Given the description of an element on the screen output the (x, y) to click on. 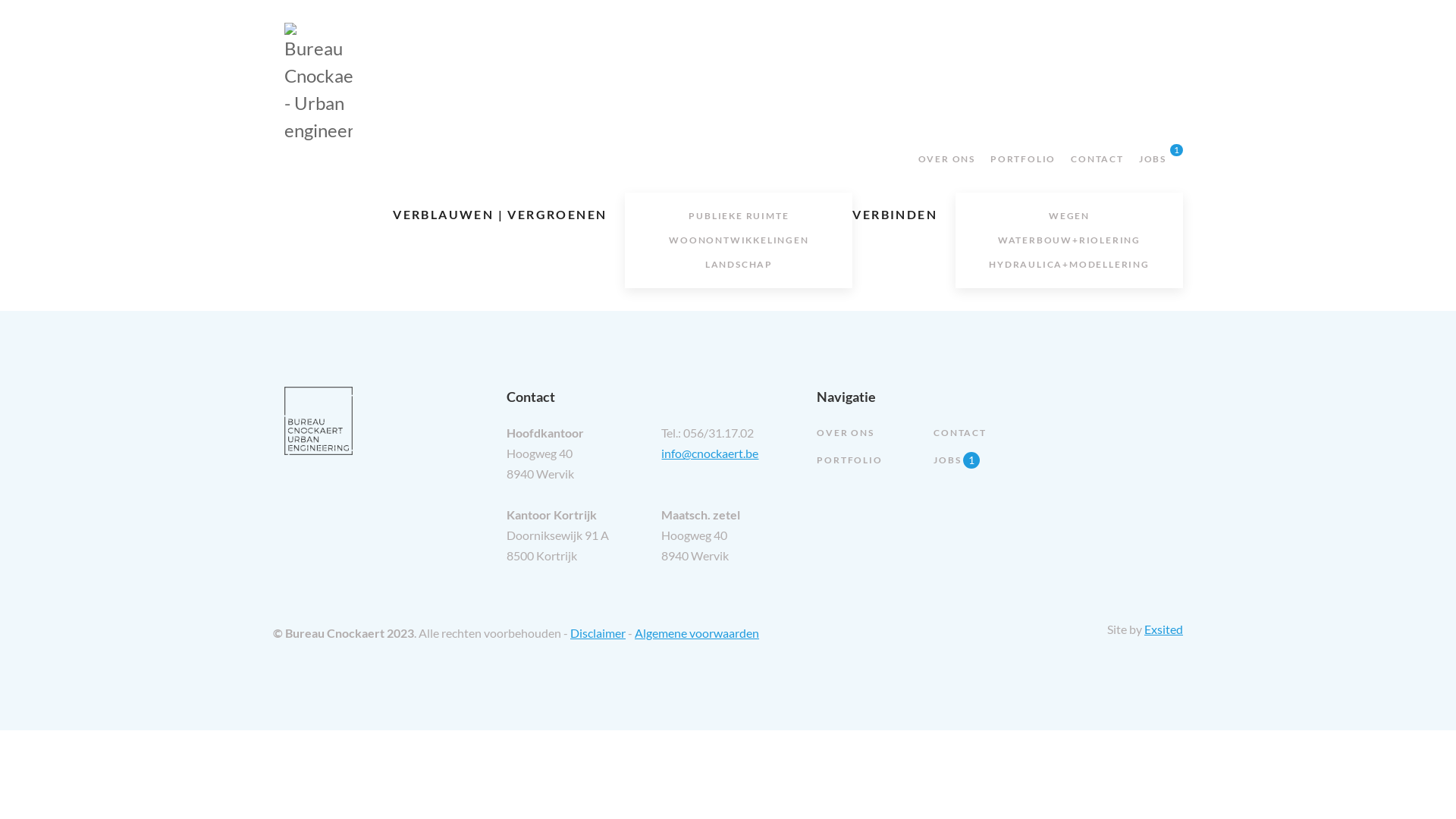
OVER ONS Element type: text (946, 159)
LANDSCHAP Element type: text (738, 264)
Exsited Element type: text (1163, 628)
PORTFOLIO Element type: text (848, 459)
PORTFOLIO Element type: text (1022, 159)
PUBLIEKE RUIMTE Element type: text (738, 215)
info@cnockaert.be Element type: text (709, 452)
CONTACT Element type: text (1096, 159)
WOONONTWIKKELINGEN Element type: text (738, 240)
JOBS Element type: text (1152, 159)
VERBINDEN Element type: text (894, 214)
OVER ONS Element type: text (844, 432)
VERBLAUWEN | VERGROENEN Element type: text (499, 214)
CONTACT Element type: text (959, 432)
HYDRAULICA+MODELLERING Element type: text (1069, 264)
WEGEN Element type: text (1069, 215)
JOBS Element type: text (946, 459)
WATERBOUW+RIOLERING Element type: text (1069, 240)
Algemene voorwaarden Element type: text (696, 632)
Disclaimer Element type: text (597, 632)
